Given the description of an element on the screen output the (x, y) to click on. 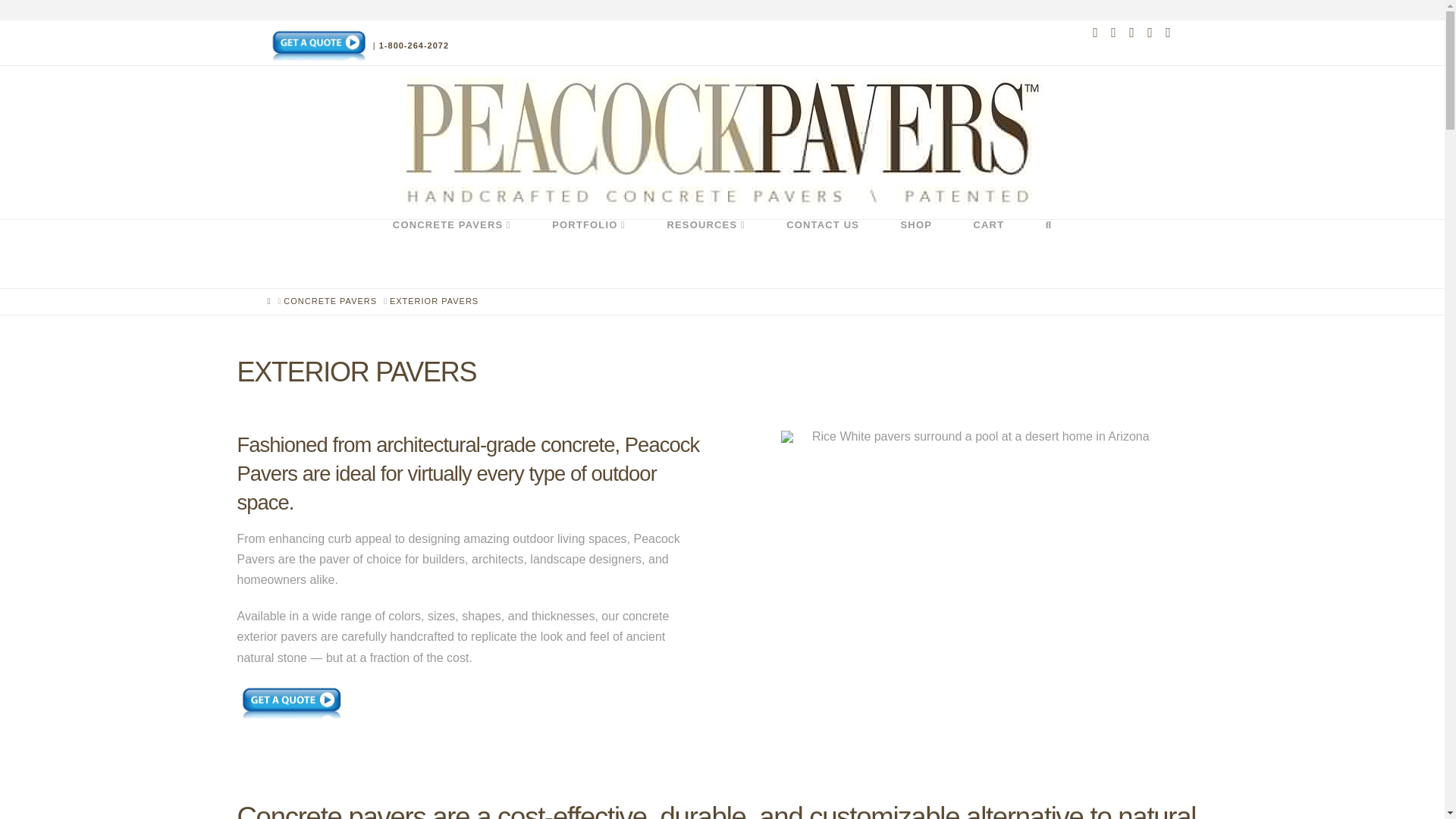
SHOP (915, 254)
CONTACT US (822, 254)
RESOURCES (705, 254)
You Are Here (434, 301)
CONCRETE PAVERS (451, 254)
CART (988, 254)
PORTFOLIO (588, 254)
1-800-264-2072 (413, 44)
